Given the description of an element on the screen output the (x, y) to click on. 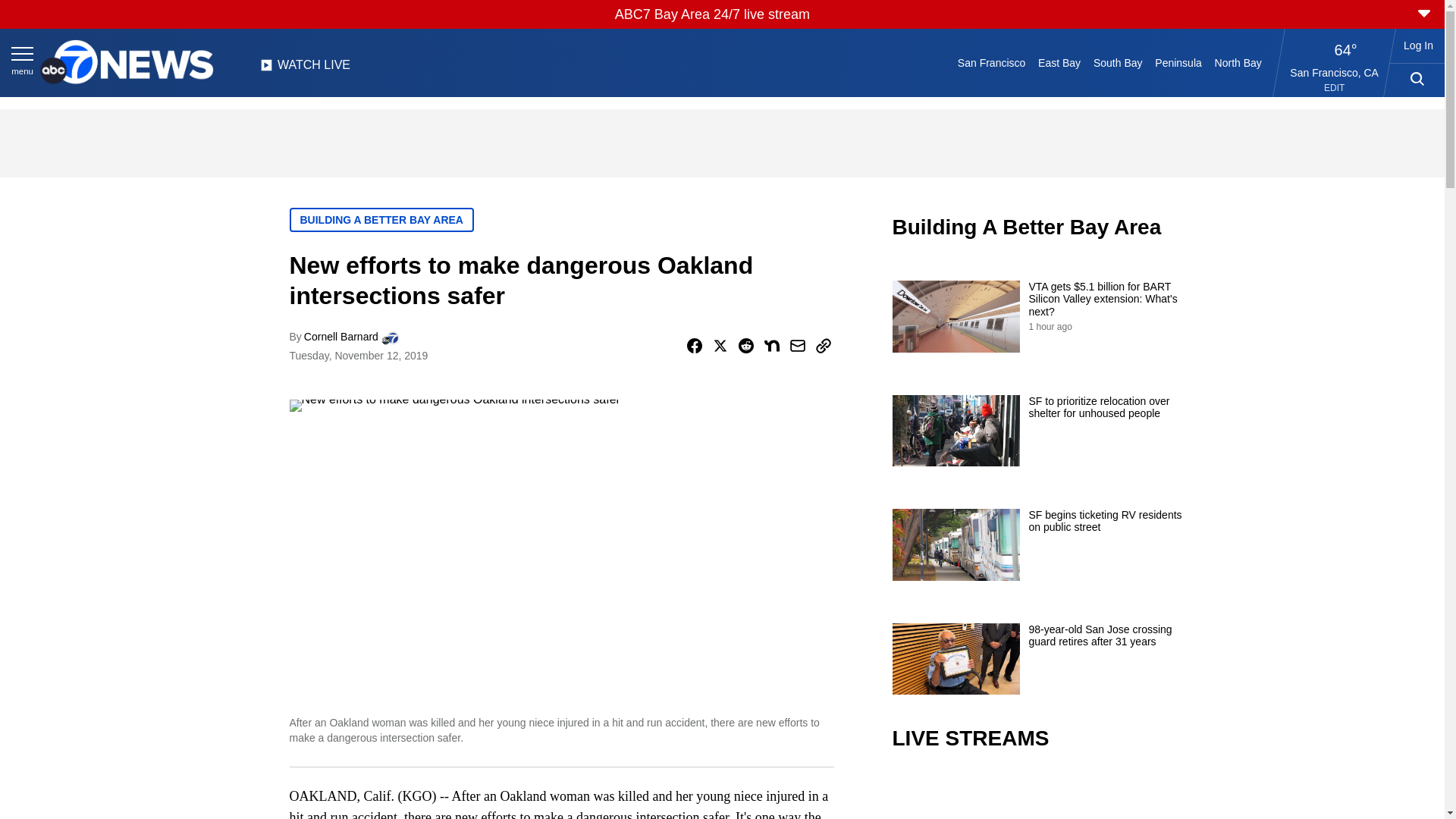
EDIT (1333, 87)
Peninsula (1178, 62)
San Francisco (990, 62)
video.title (1043, 796)
South Bay (1117, 62)
North Bay (1238, 62)
WATCH LIVE (305, 69)
East Bay (1059, 62)
San Francisco, CA (1334, 72)
